Given the description of an element on the screen output the (x, y) to click on. 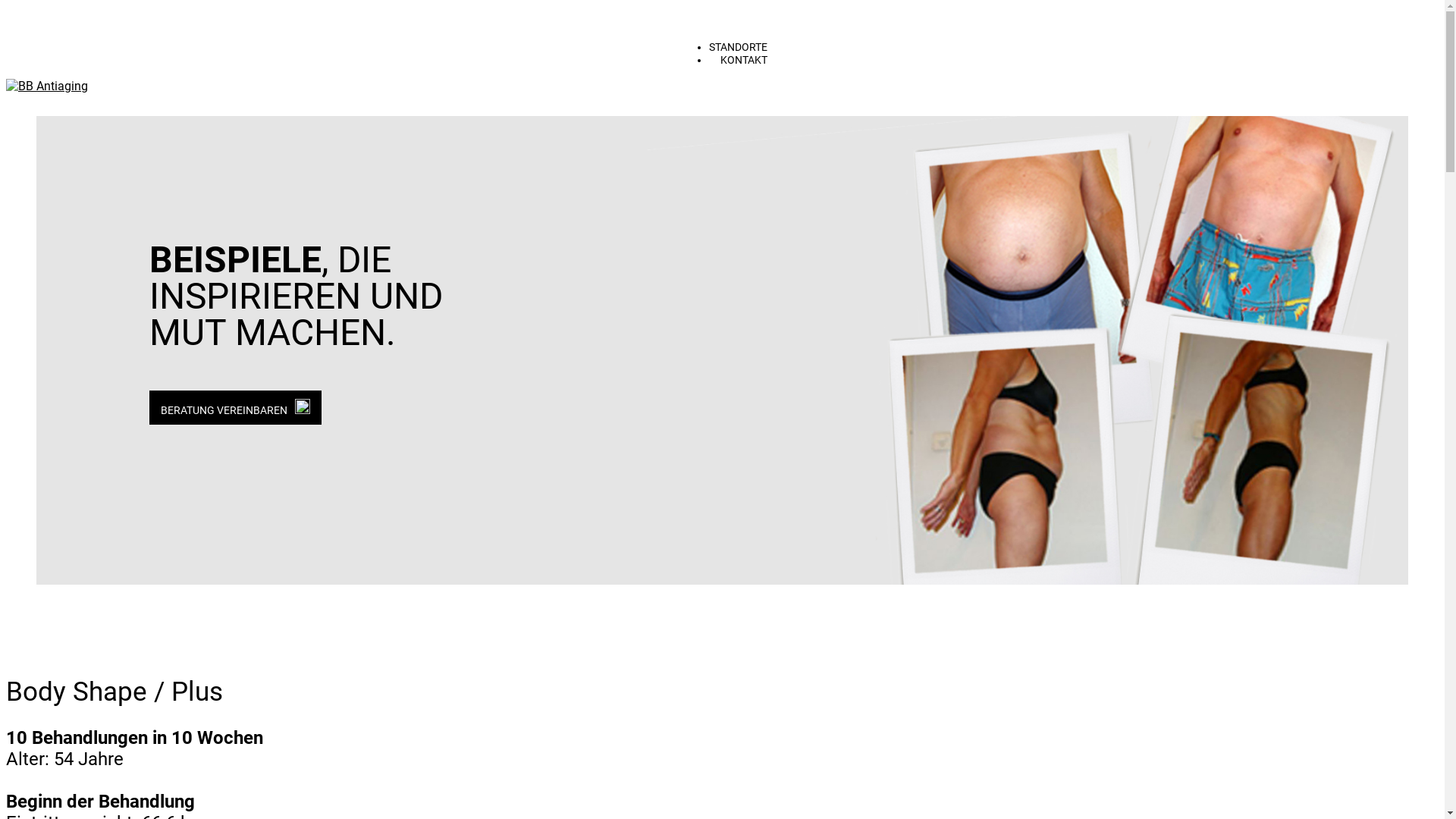
BERATUNG VEREINBAREN Element type: text (235, 409)
KONTAKT Element type: text (743, 59)
STANDORTE Element type: text (738, 46)
